Given the description of an element on the screen output the (x, y) to click on. 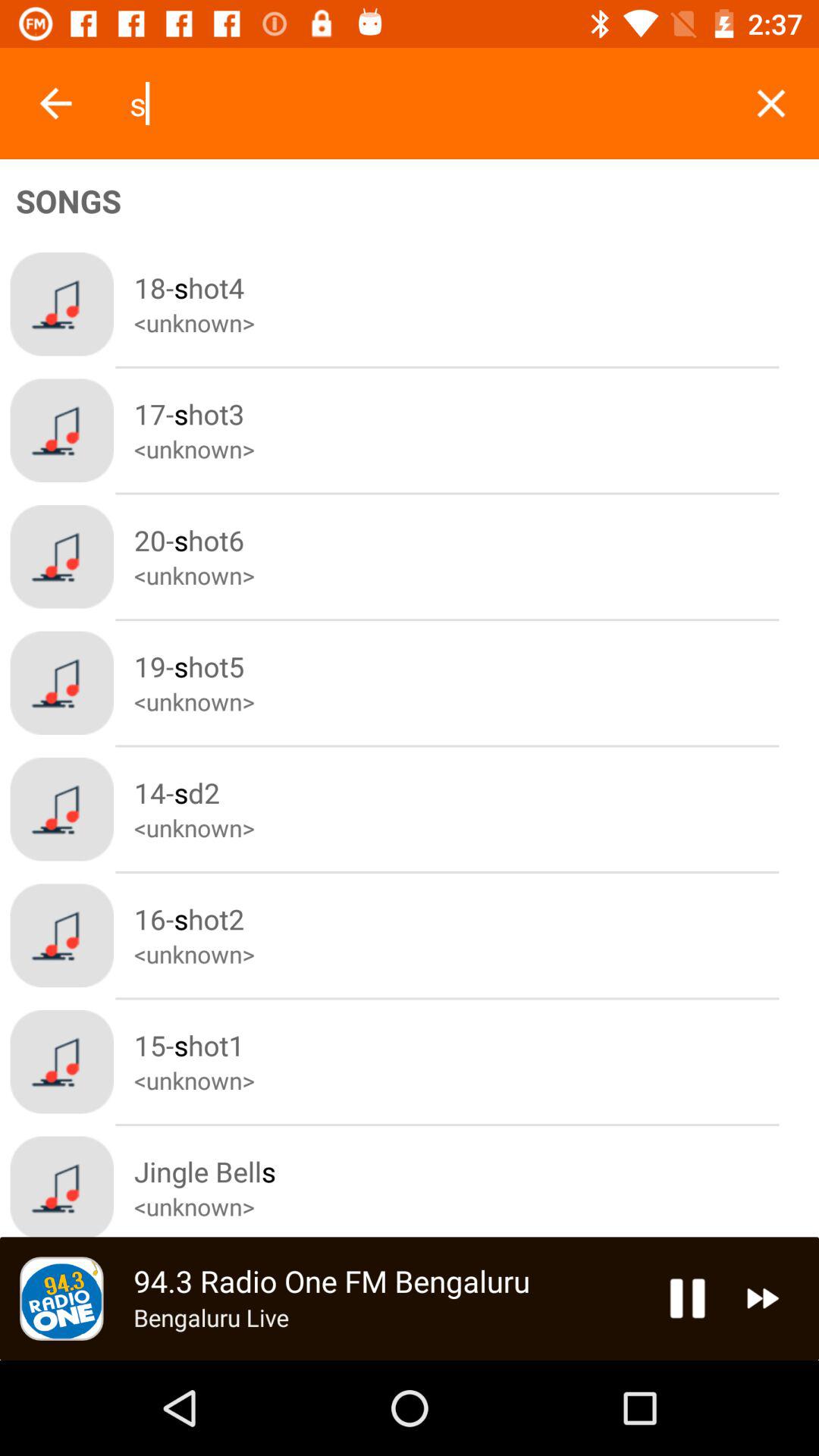
jump to s item (425, 103)
